Given the description of an element on the screen output the (x, y) to click on. 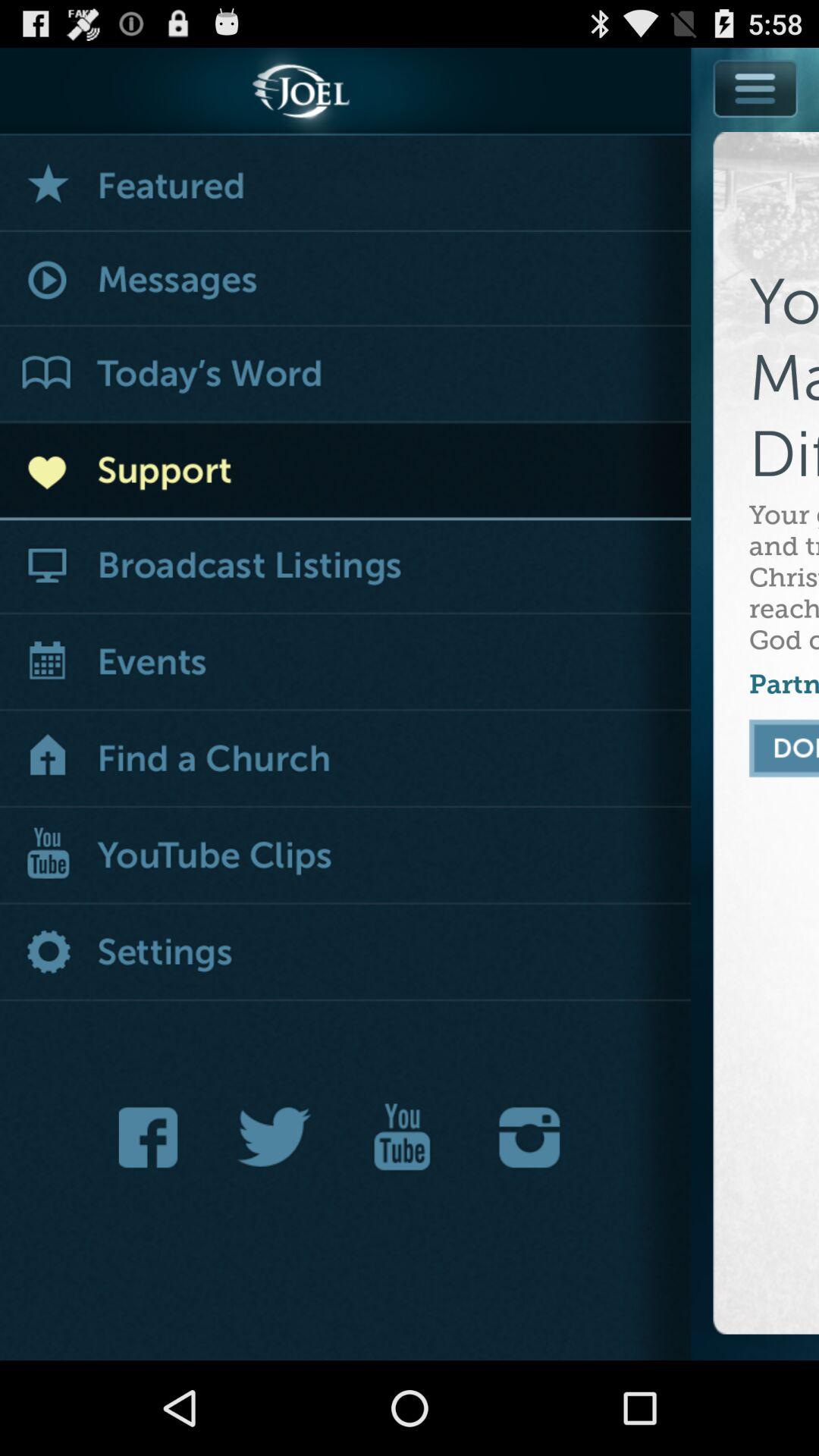
broadcast the listings (345, 566)
